Given the description of an element on the screen output the (x, y) to click on. 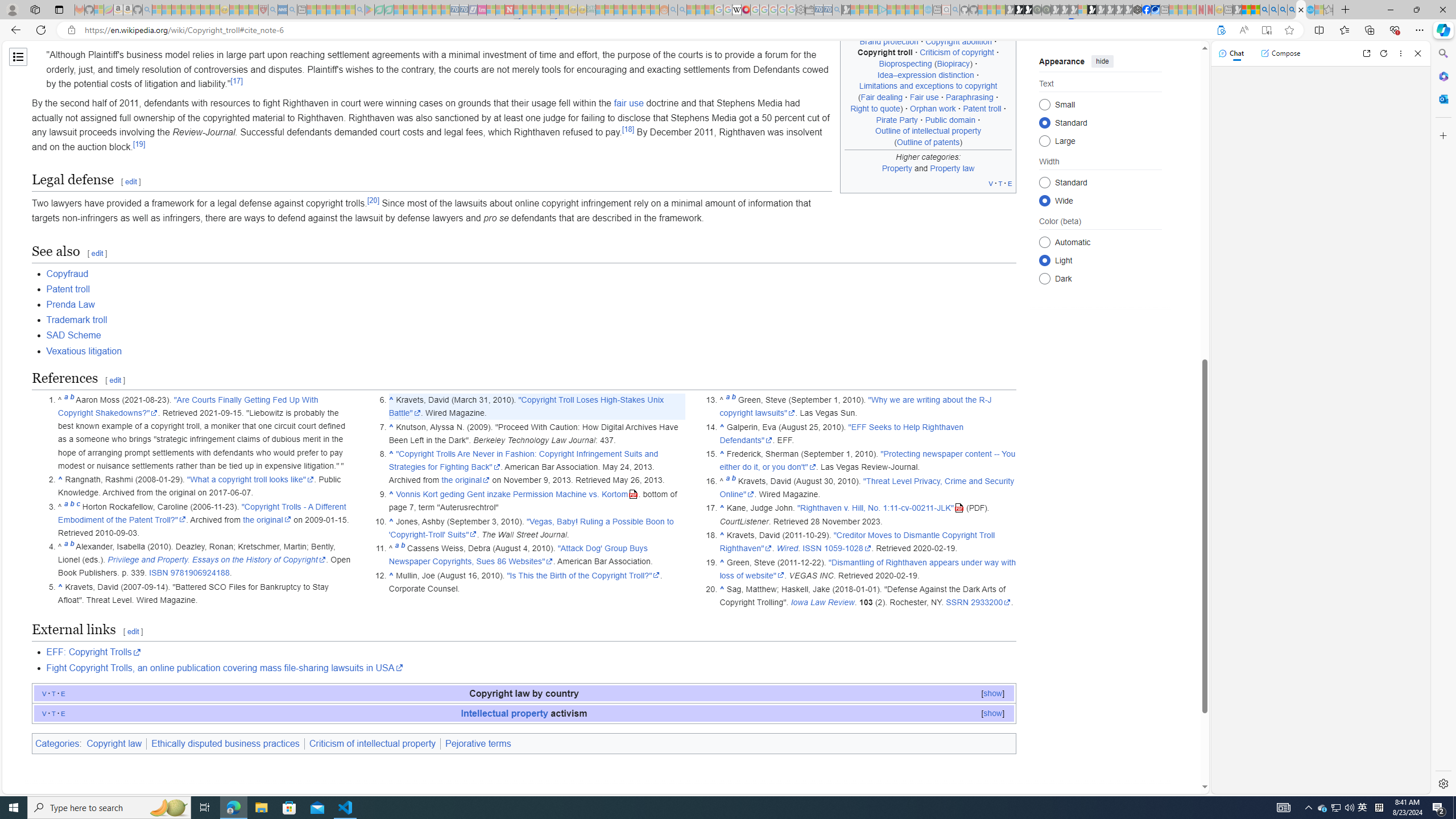
Pejorative terms (477, 743)
Home | Sky Blue Bikes - Sky Blue Bikes - Sleeping (927, 9)
(Outline of patents) (927, 141)
Jump up (722, 589)
Compose (1280, 52)
Copyright abolition (959, 40)
EFF: Copyright Trolls (93, 652)
